Given the description of an element on the screen output the (x, y) to click on. 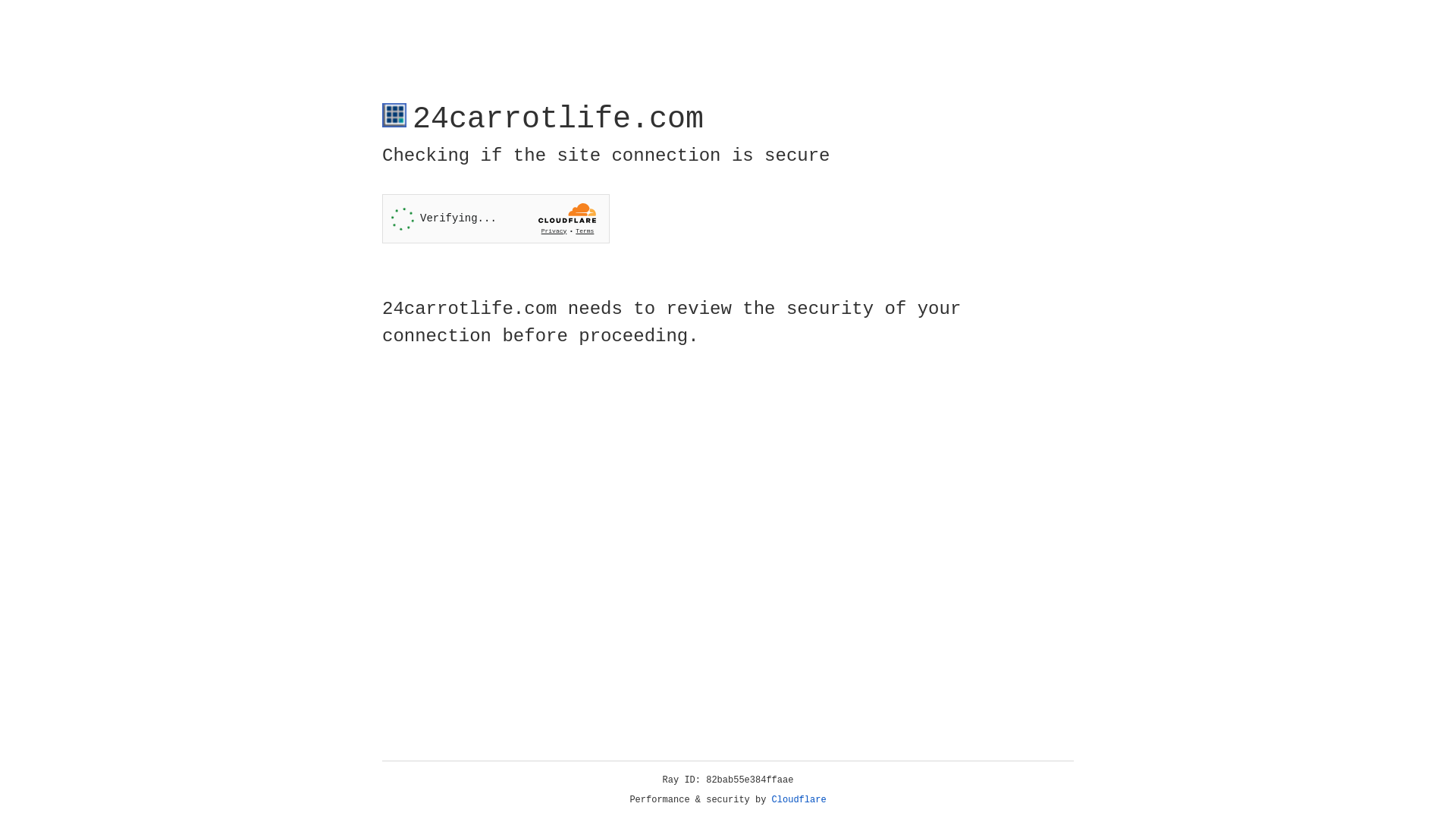
Widget containing a Cloudflare security challenge Element type: hover (495, 218)
Cloudflare Element type: text (798, 799)
